Given the description of an element on the screen output the (x, y) to click on. 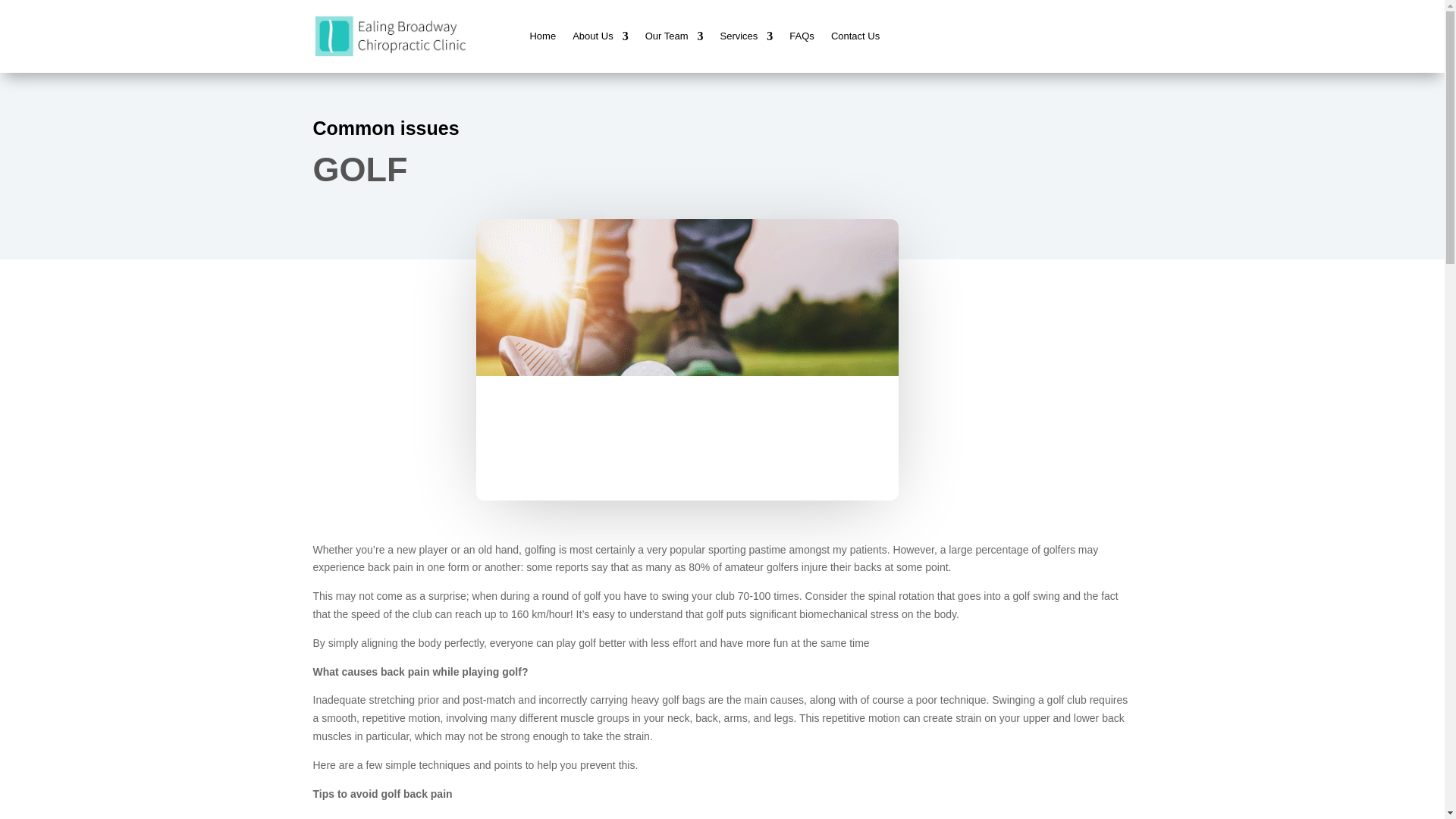
Services (746, 36)
Our Team (674, 36)
photography-14 (687, 359)
About Us (599, 36)
